Given the description of an element on the screen output the (x, y) to click on. 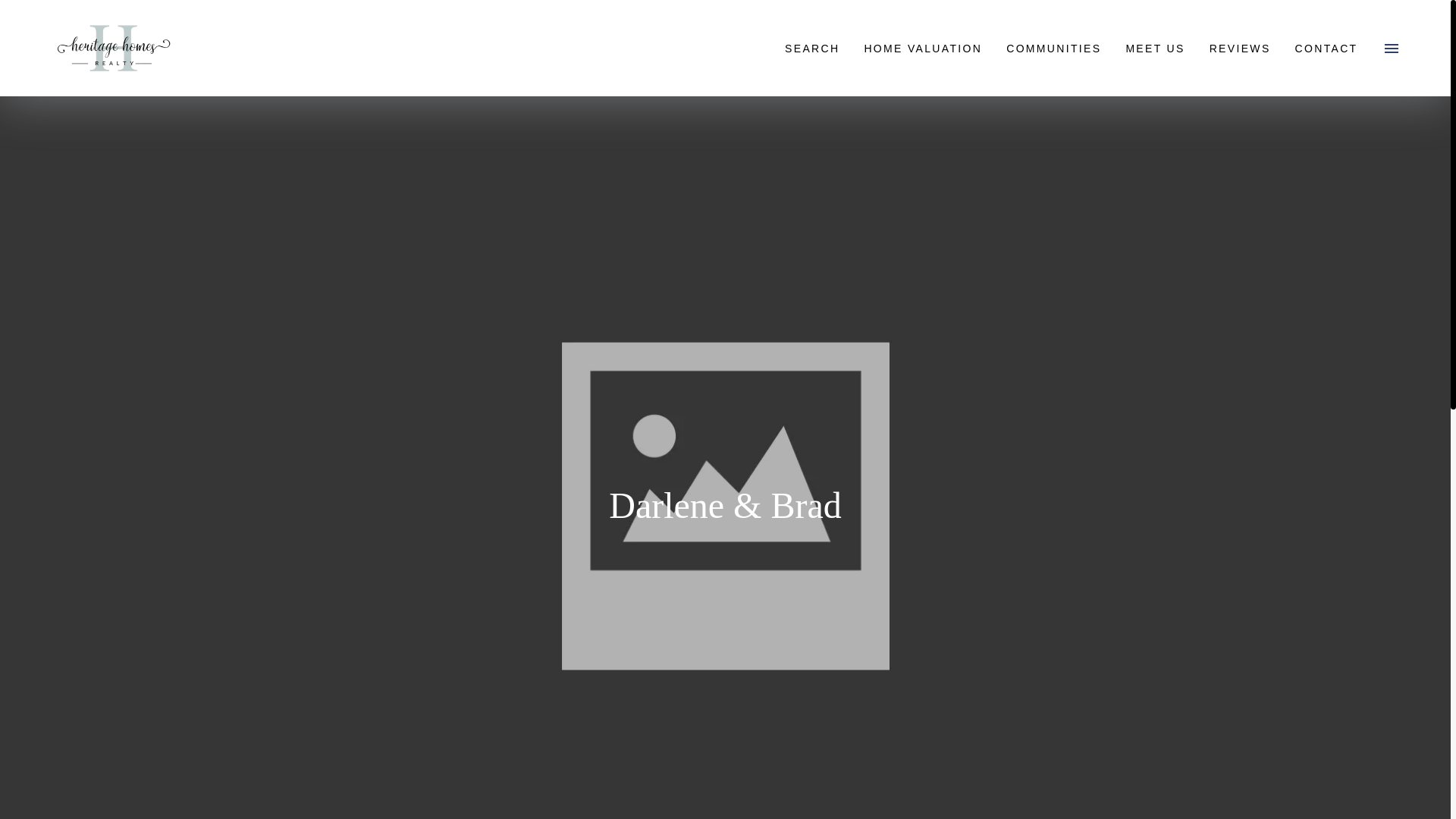
REVIEWS (1239, 47)
CONTACT (1326, 47)
HOME VALUATION (922, 47)
MEET US (1154, 47)
SEARCH (812, 47)
COMMUNITIES (1053, 47)
